Given the description of an element on the screen output the (x, y) to click on. 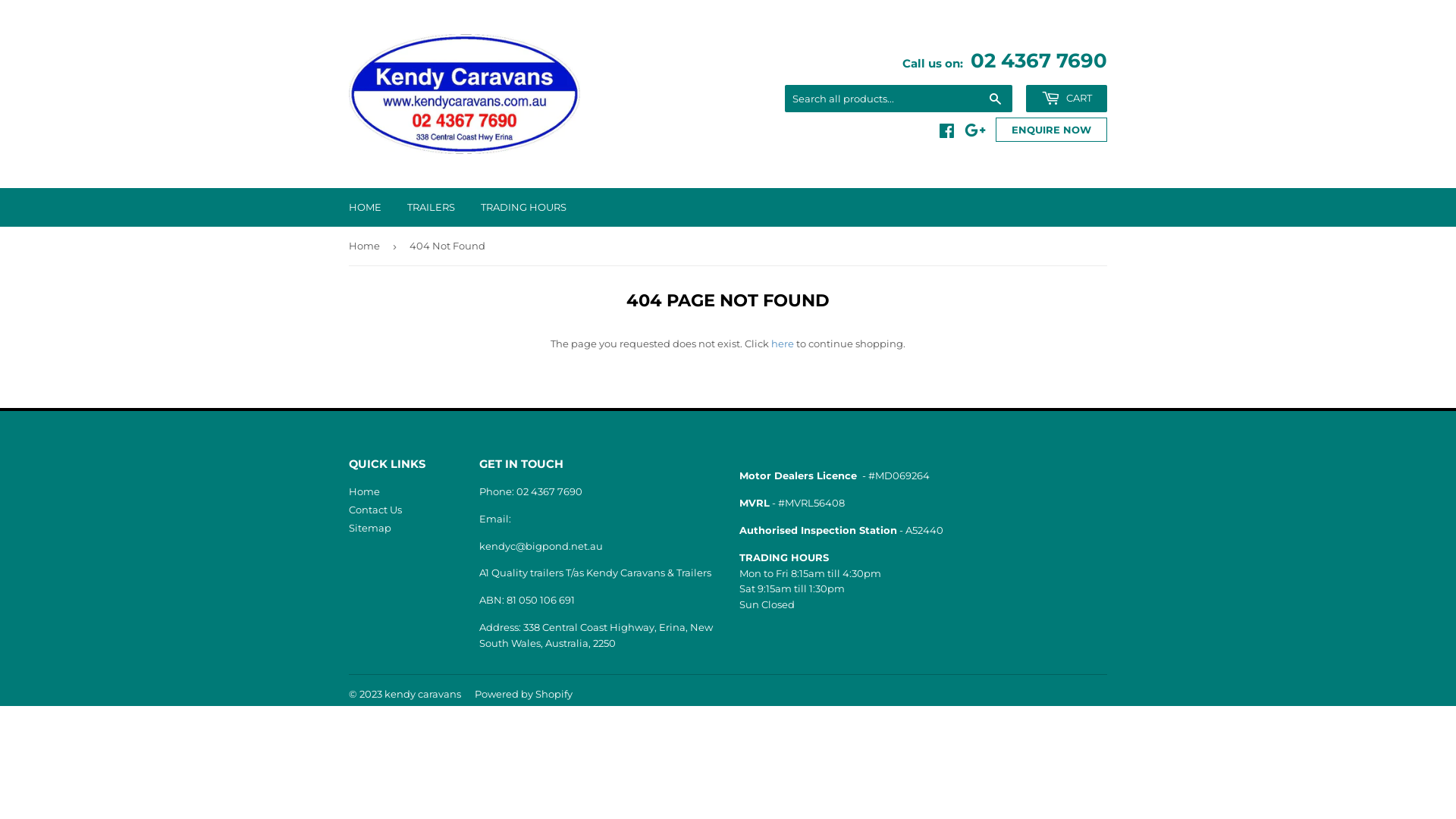
here Element type: text (782, 343)
Powered by Shopify Element type: text (523, 693)
CART Element type: text (1066, 98)
Facebook Element type: text (946, 132)
Google Element type: text (974, 132)
TRADING HOURS Element type: text (523, 207)
TRAILERS Element type: text (430, 207)
ENQUIRE NOW Element type: text (1051, 129)
Contact Us Element type: text (374, 509)
Sitemap Element type: text (369, 527)
kendy caravans Element type: text (422, 693)
HOME Element type: text (364, 207)
Home Element type: text (366, 245)
Search Element type: text (995, 99)
Home Element type: text (363, 491)
